Given the description of an element on the screen output the (x, y) to click on. 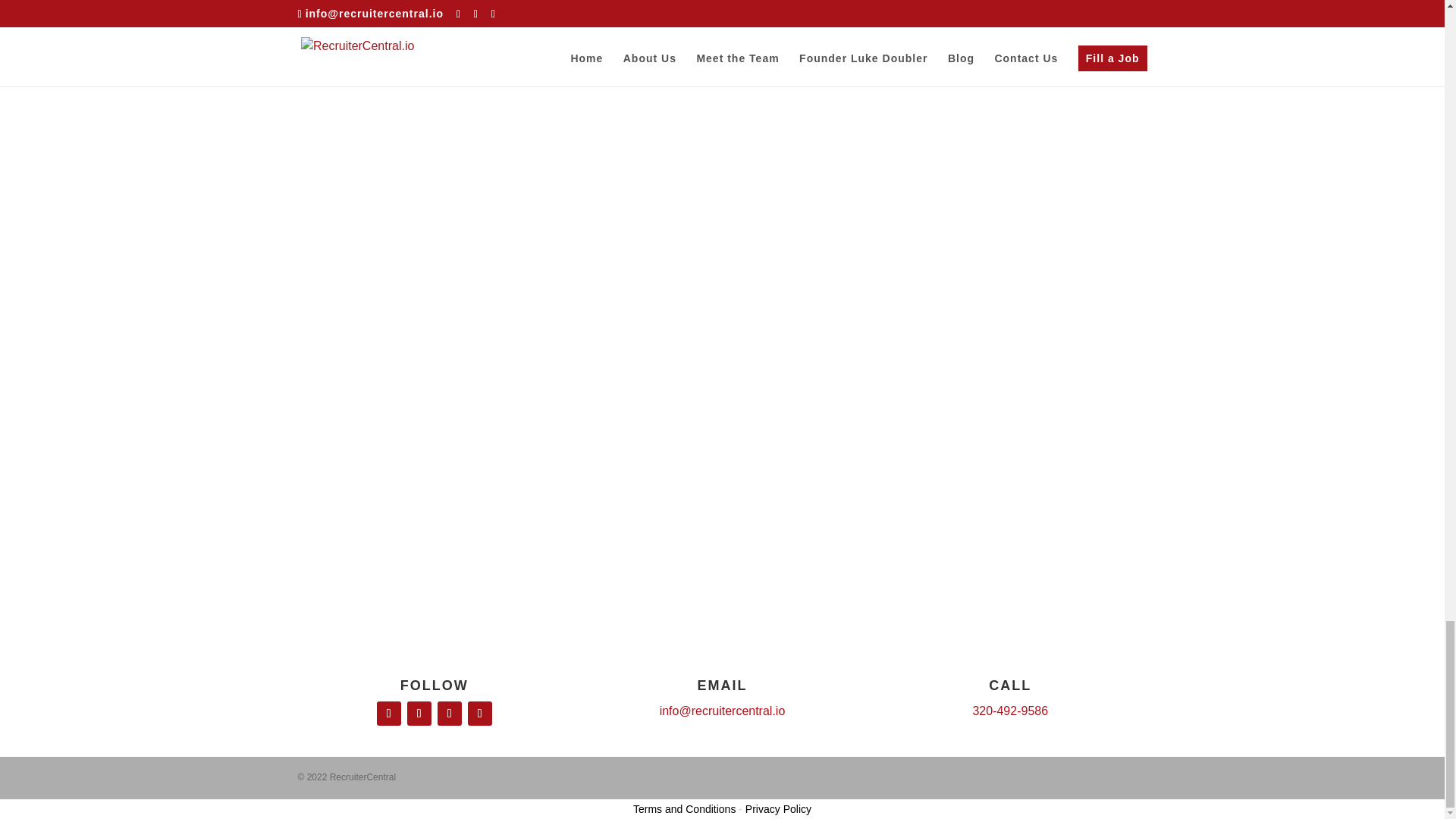
Privacy Policy (777, 808)
Follow on Instagram (418, 713)
Follow on Facebook (389, 713)
Follow on X (479, 713)
Terms and Conditions (684, 808)
320-492-9586 (1010, 710)
We fill difficult jobs. (722, 284)
Follow on LinkedIn (449, 713)
